Given the description of an element on the screen output the (x, y) to click on. 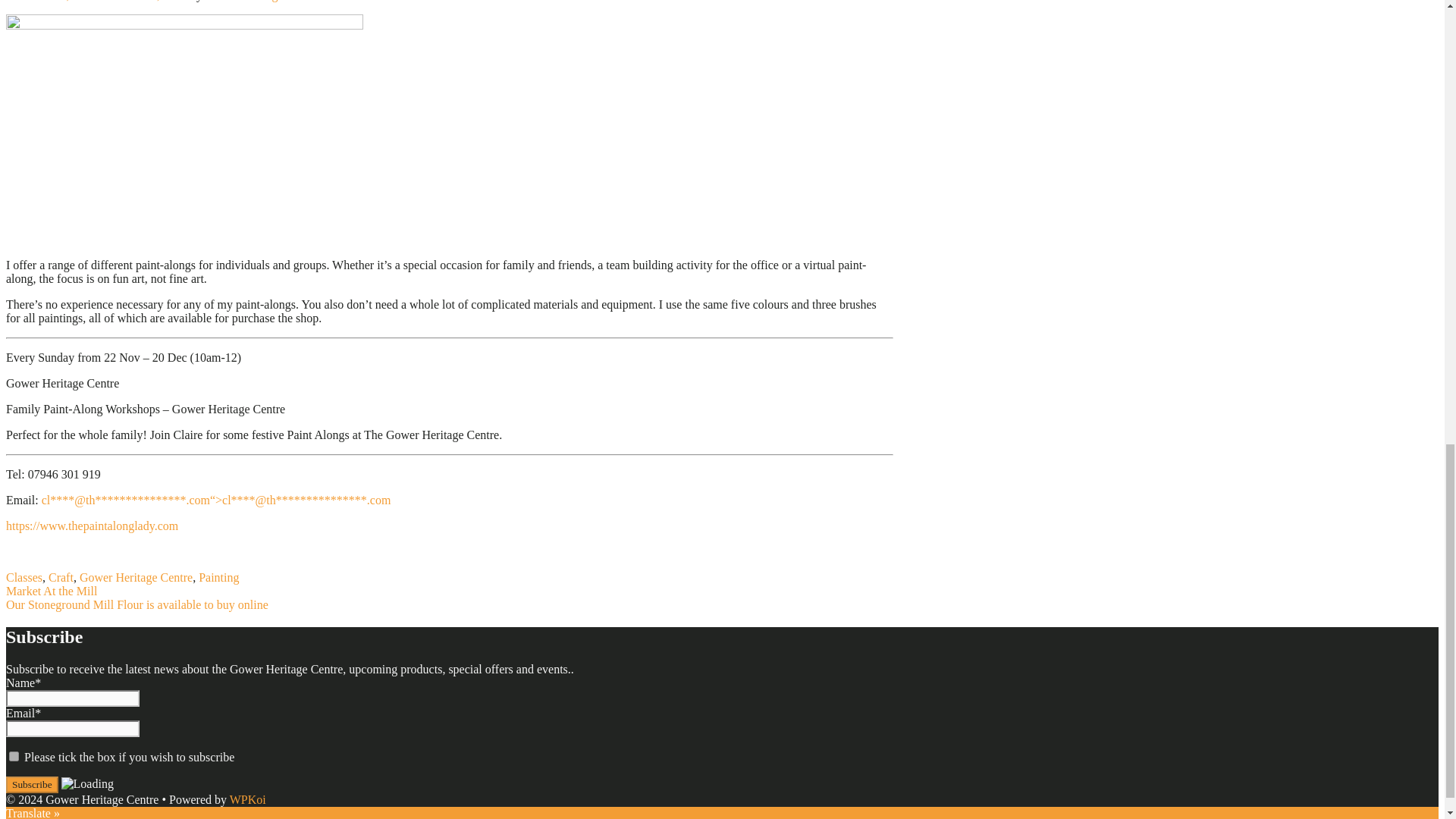
Previous (51, 590)
true (13, 756)
Subscribe (31, 784)
Next (136, 604)
View all posts by Gower Heritage Centre (261, 0)
